Given the description of an element on the screen output the (x, y) to click on. 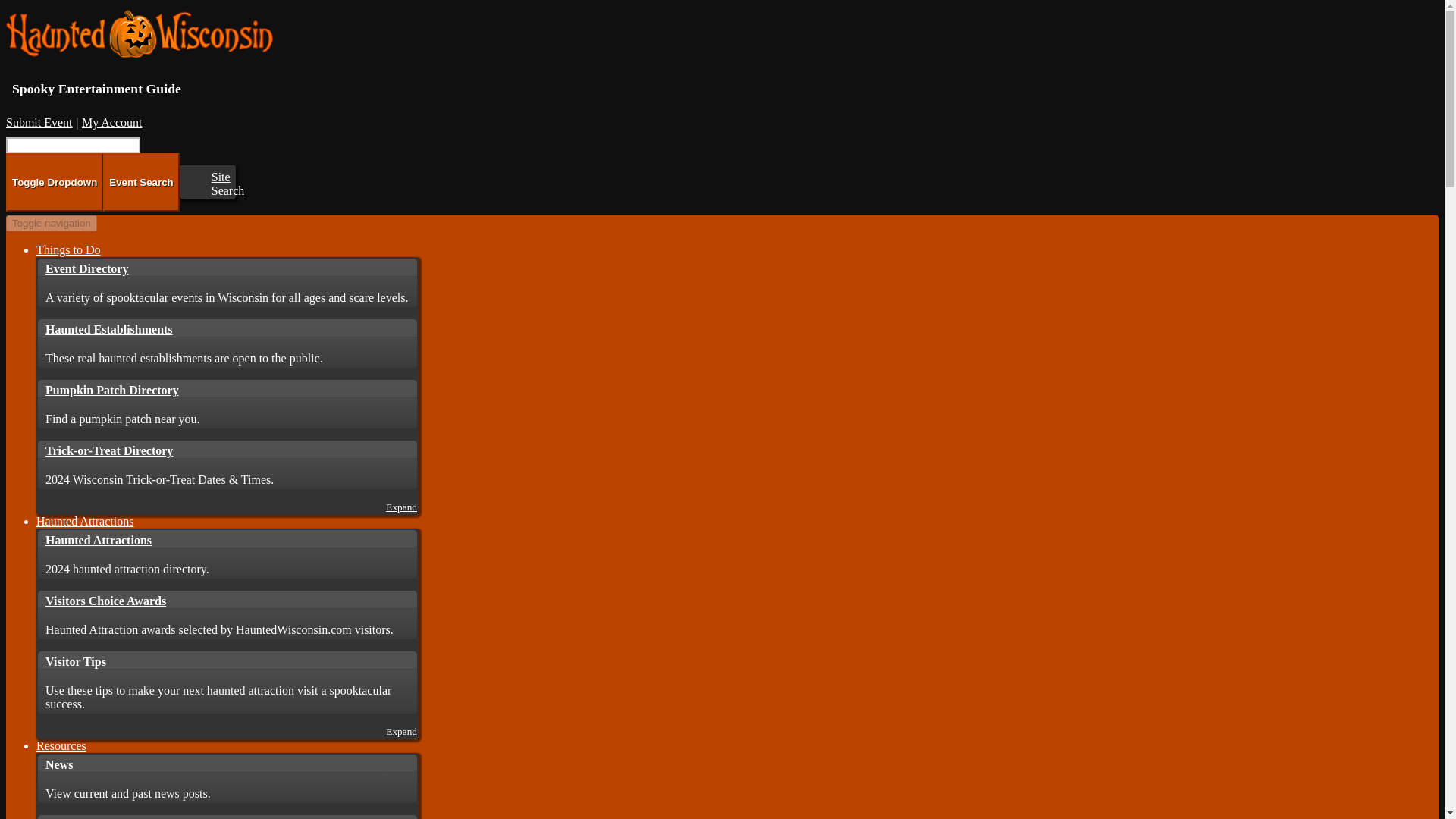
Haunted Attractions (84, 521)
Haunted Attractions (226, 538)
Trick-or-Treat Directory (226, 449)
Visitors Choice Awards (226, 599)
Event Search (141, 182)
Expand (400, 506)
Pumpkin Patch Directory (226, 389)
Toggle Dropdown (54, 182)
Submit Event (38, 122)
Visitor Tips (226, 660)
My Account (111, 122)
Haunted Establishments (226, 328)
Site Search (227, 183)
Event Directory (226, 267)
